Given the description of an element on the screen output the (x, y) to click on. 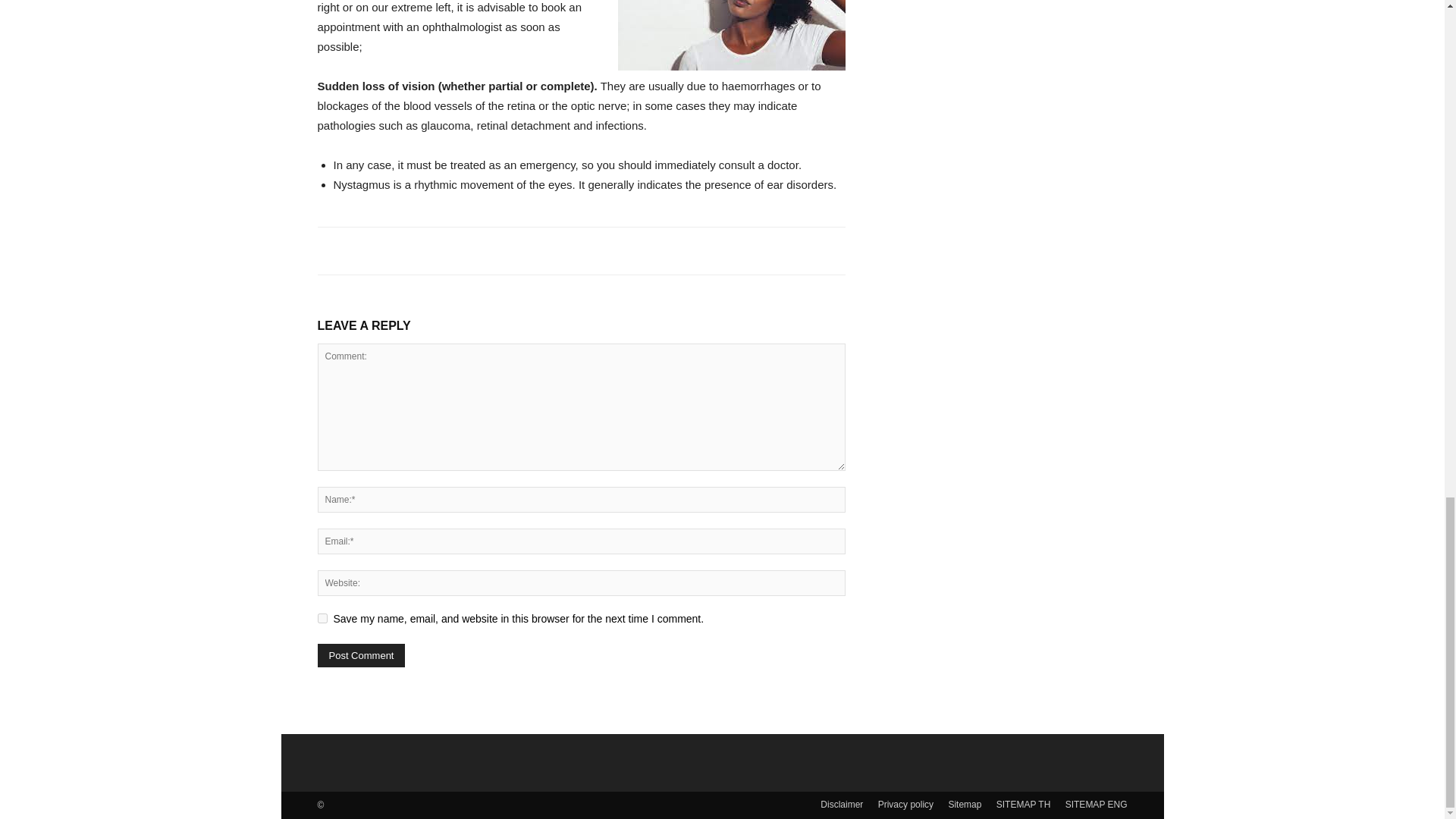
SITEMAP ENG (1095, 804)
Post Comment (360, 655)
Disclaimer (842, 804)
Privacy policy (905, 804)
Sitemap (964, 804)
SITEMAP TH (1023, 804)
Post Comment (360, 655)
yes (321, 618)
